Given the description of an element on the screen output the (x, y) to click on. 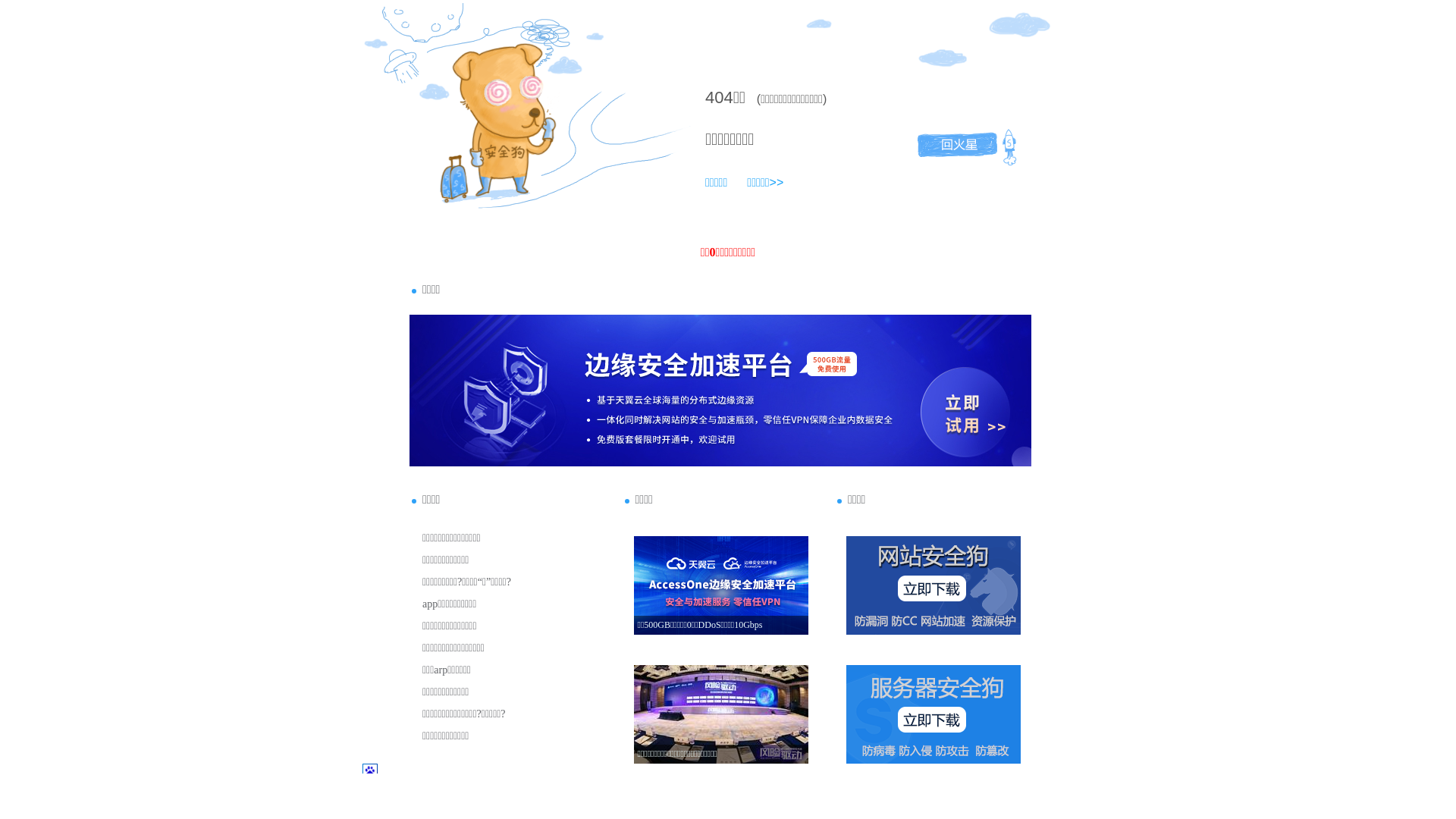
404 Element type: text (719, 96)
